Given the description of an element on the screen output the (x, y) to click on. 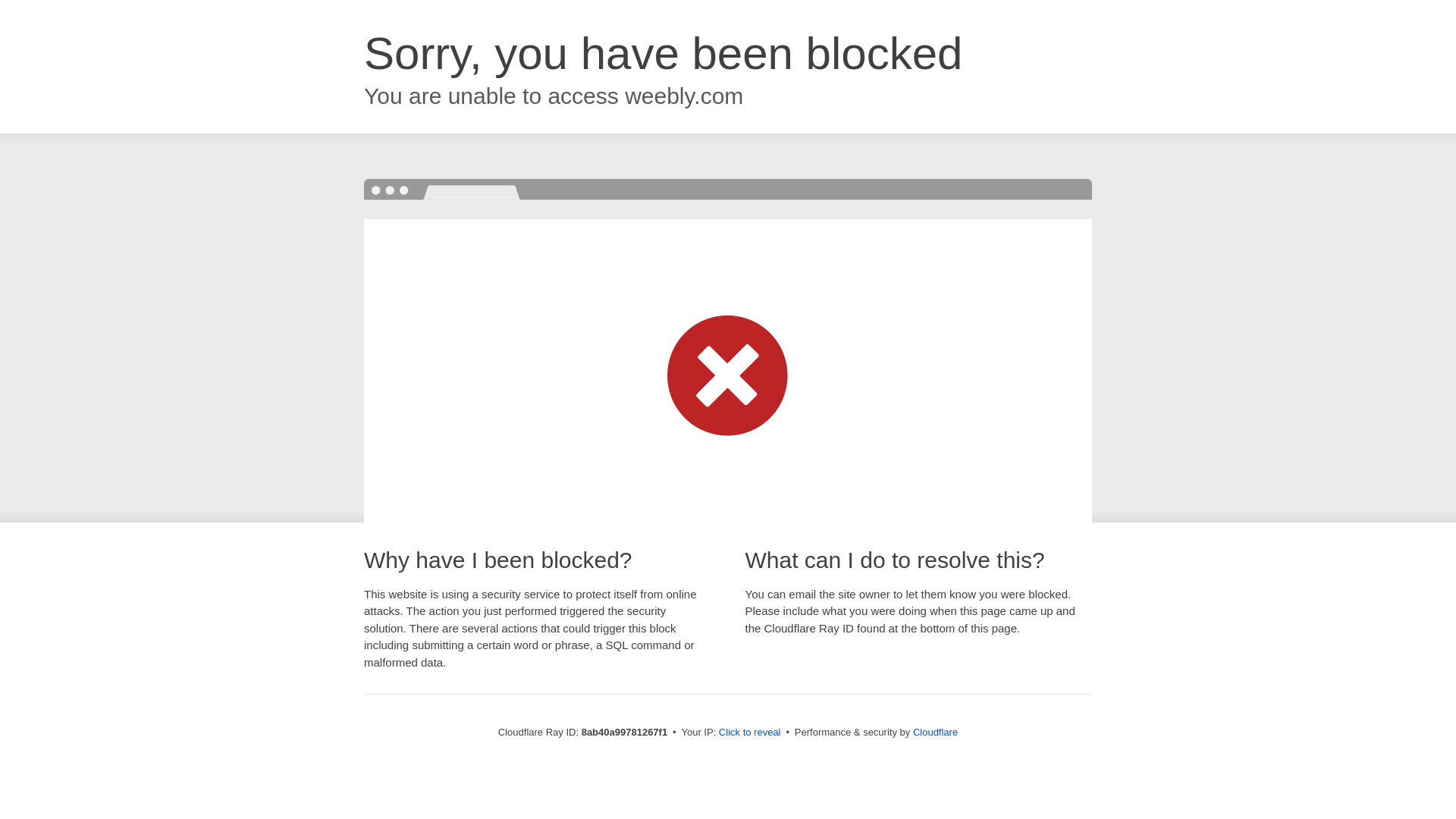
Click to reveal (749, 732)
Cloudflare (935, 731)
